Given the description of an element on the screen output the (x, y) to click on. 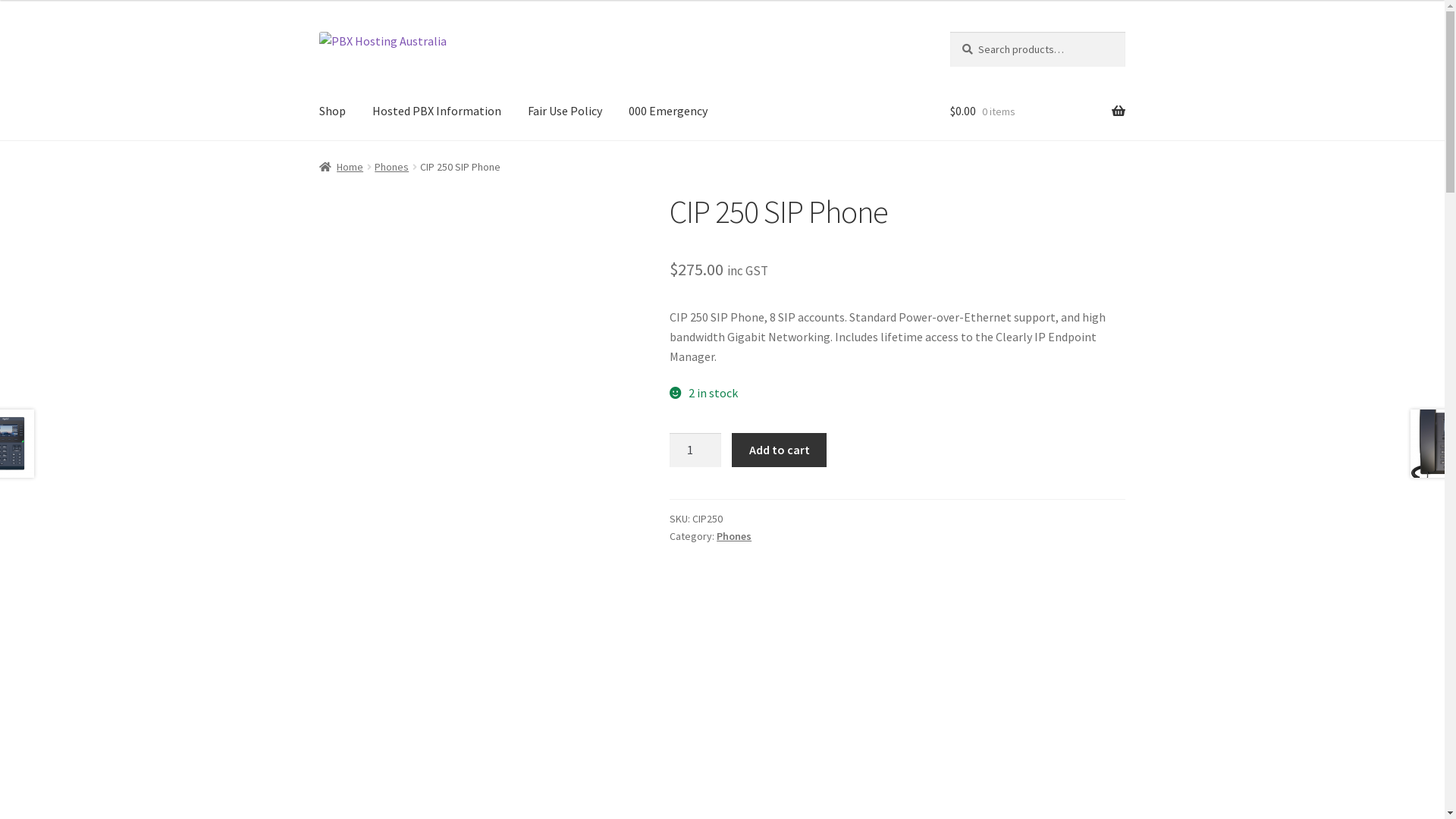
Home Element type: text (341, 166)
Fair Use Policy Element type: text (564, 111)
Search Element type: text (949, 31)
Phones Element type: text (391, 166)
000 Emergency Element type: text (667, 111)
Phones Element type: text (733, 535)
Hosted PBX Information Element type: text (436, 111)
Add to cart Element type: text (778, 450)
Shop Element type: text (332, 111)
Skip to navigation Element type: text (318, 31)
$0.00 0 items Element type: text (1037, 111)
